Given the description of an element on the screen output the (x, y) to click on. 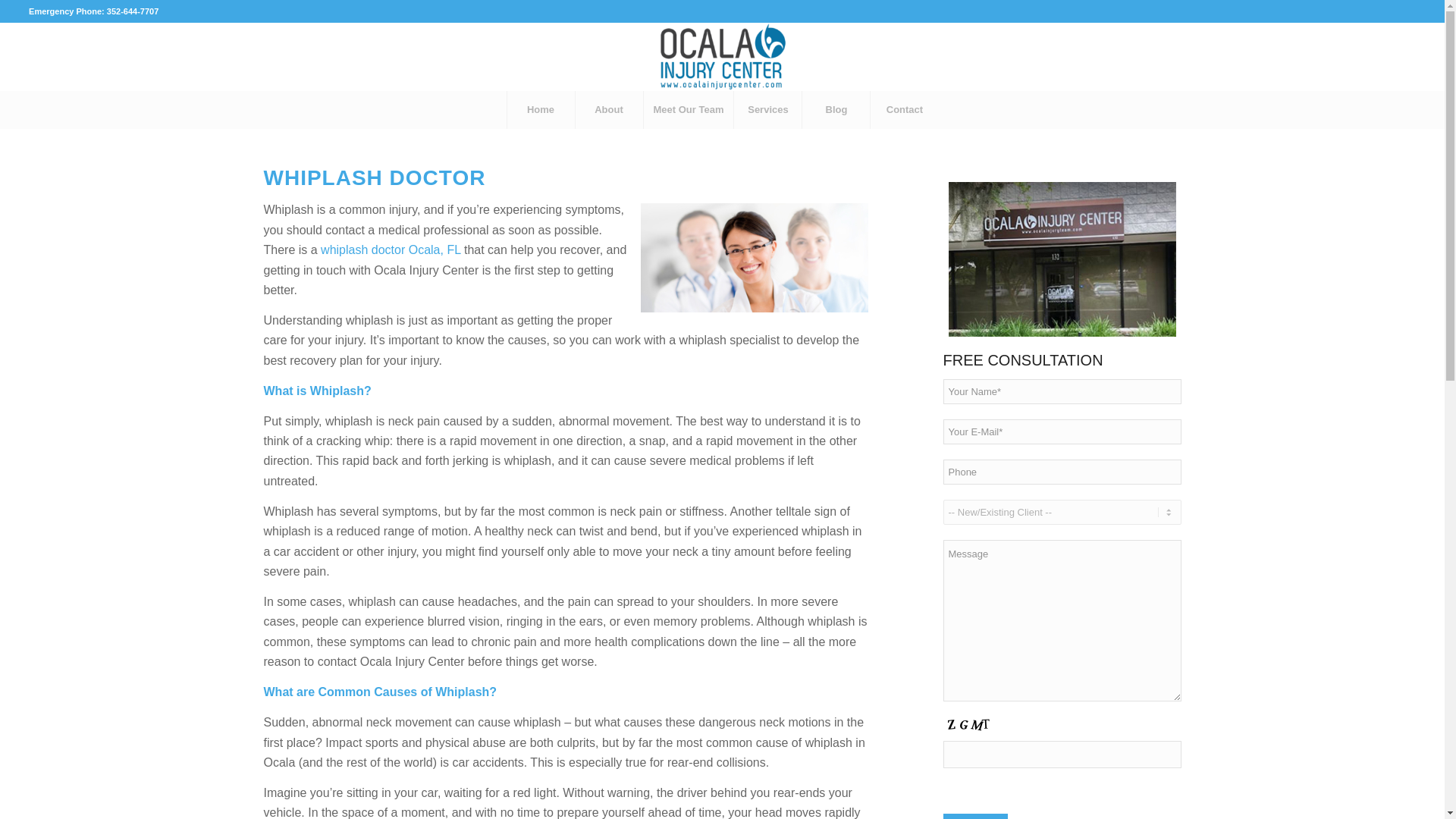
Submit (975, 816)
Contact (903, 109)
Home (540, 109)
Blog (835, 109)
whiplash doctor Ocala, FL (390, 249)
Submit (975, 816)
Meet Our Team (688, 109)
About (609, 109)
352-644-7707 (132, 10)
Services (767, 109)
